Given the description of an element on the screen output the (x, y) to click on. 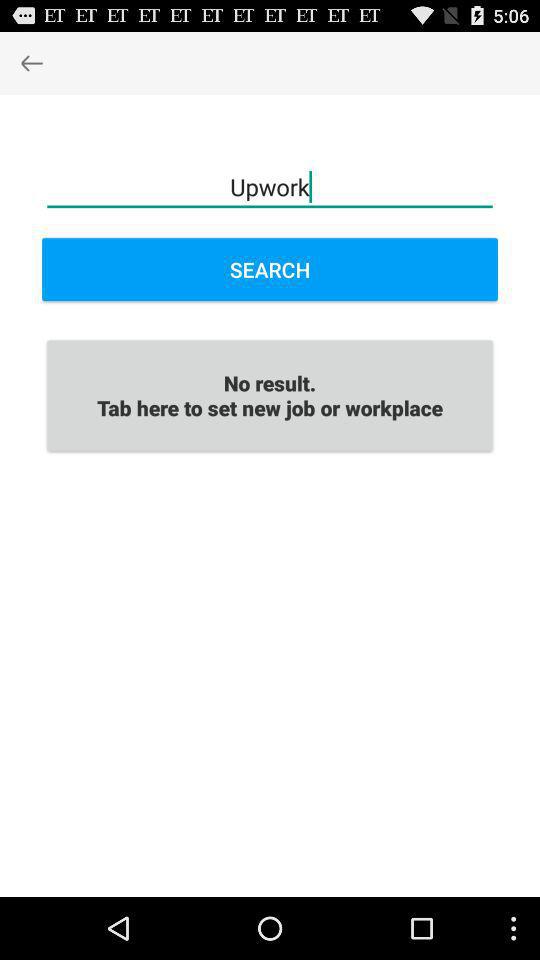
go back (31, 62)
